Given the description of an element on the screen output the (x, y) to click on. 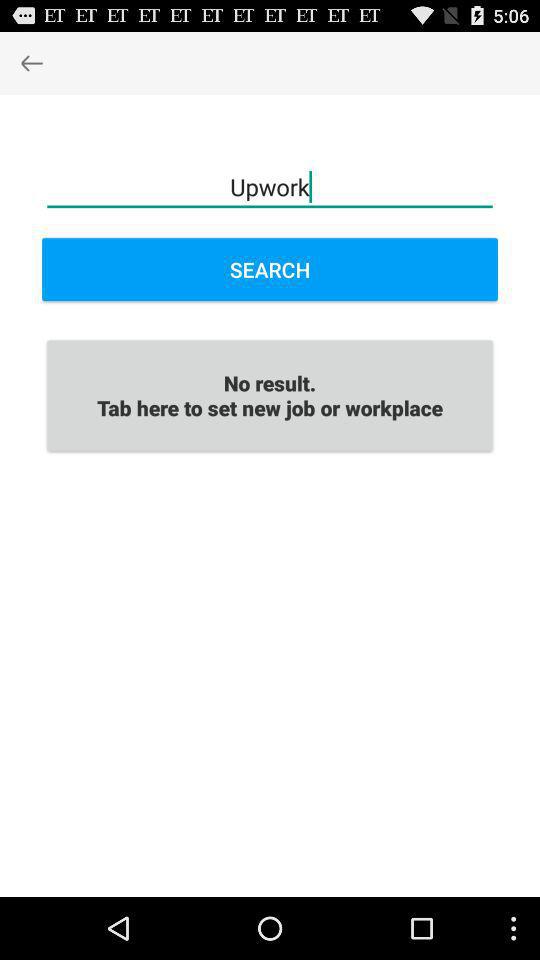
go back (31, 62)
